Given the description of an element on the screen output the (x, y) to click on. 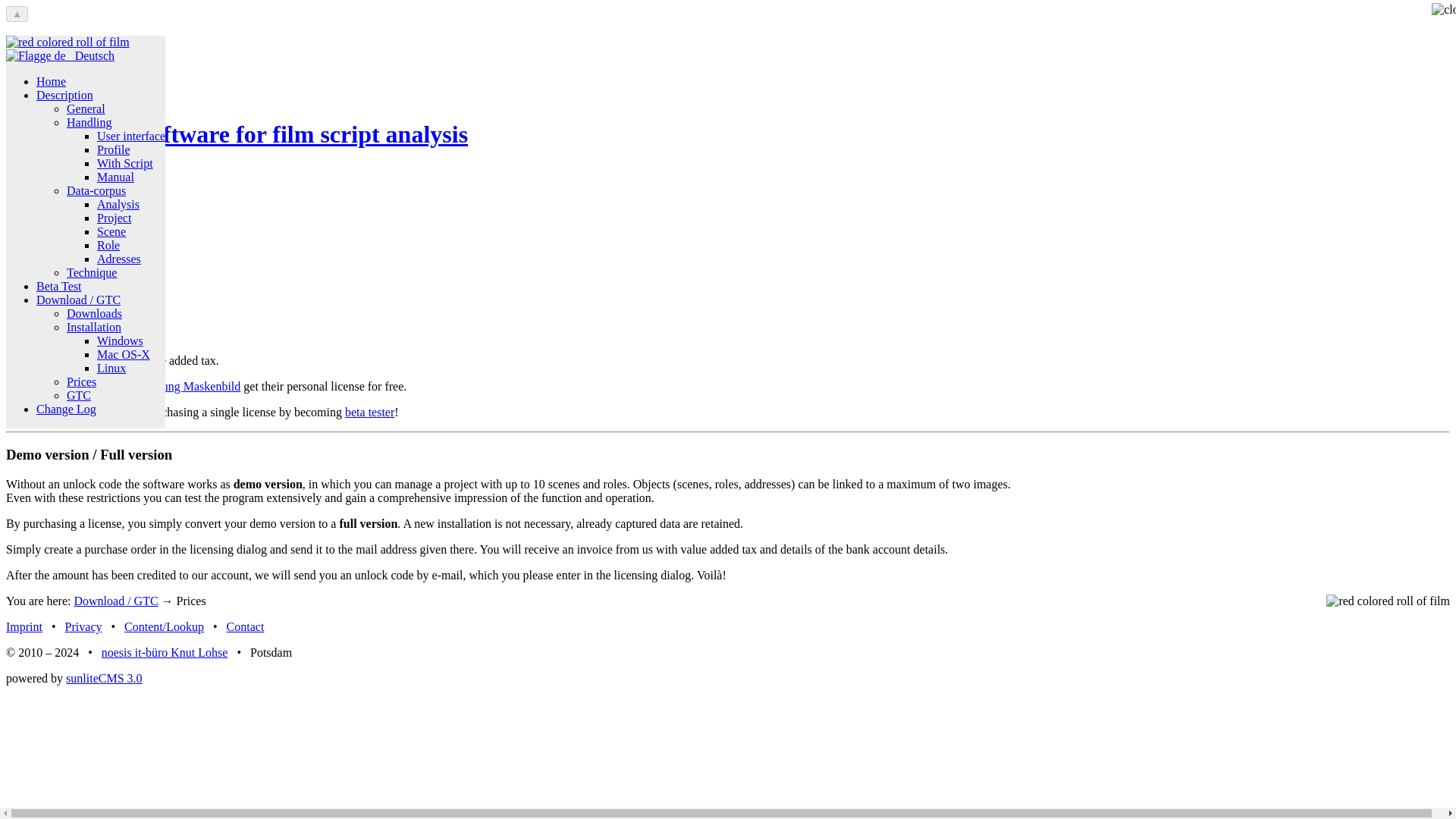
Privacy (83, 626)
to top (16, 13)
With Script (124, 163)
Data-corpus (95, 190)
General (85, 108)
beta tester (369, 411)
Home (67, 42)
Description (64, 94)
GTC (78, 395)
Project (114, 217)
Home (727, 120)
Beta Test (58, 286)
Manual (115, 176)
Installation (93, 327)
Role (108, 245)
